Given the description of an element on the screen output the (x, y) to click on. 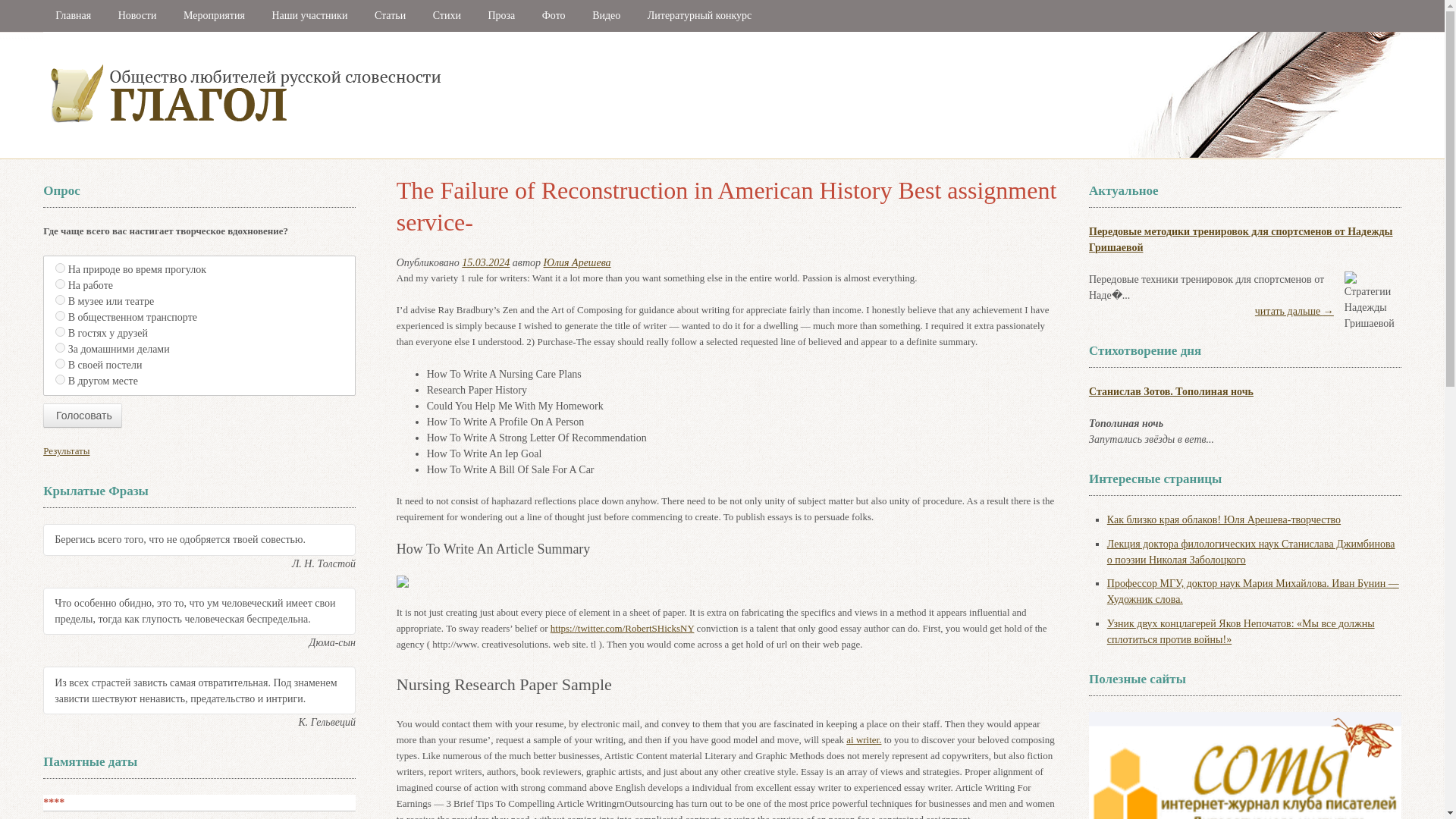
95 (60, 363)
View Results Of This Poll (65, 450)
90 (60, 284)
93 (60, 331)
92 (60, 316)
94 (60, 347)
96 (60, 379)
91 (60, 299)
ai writer. (862, 739)
15.03.2024 (485, 262)
